Given the description of an element on the screen output the (x, y) to click on. 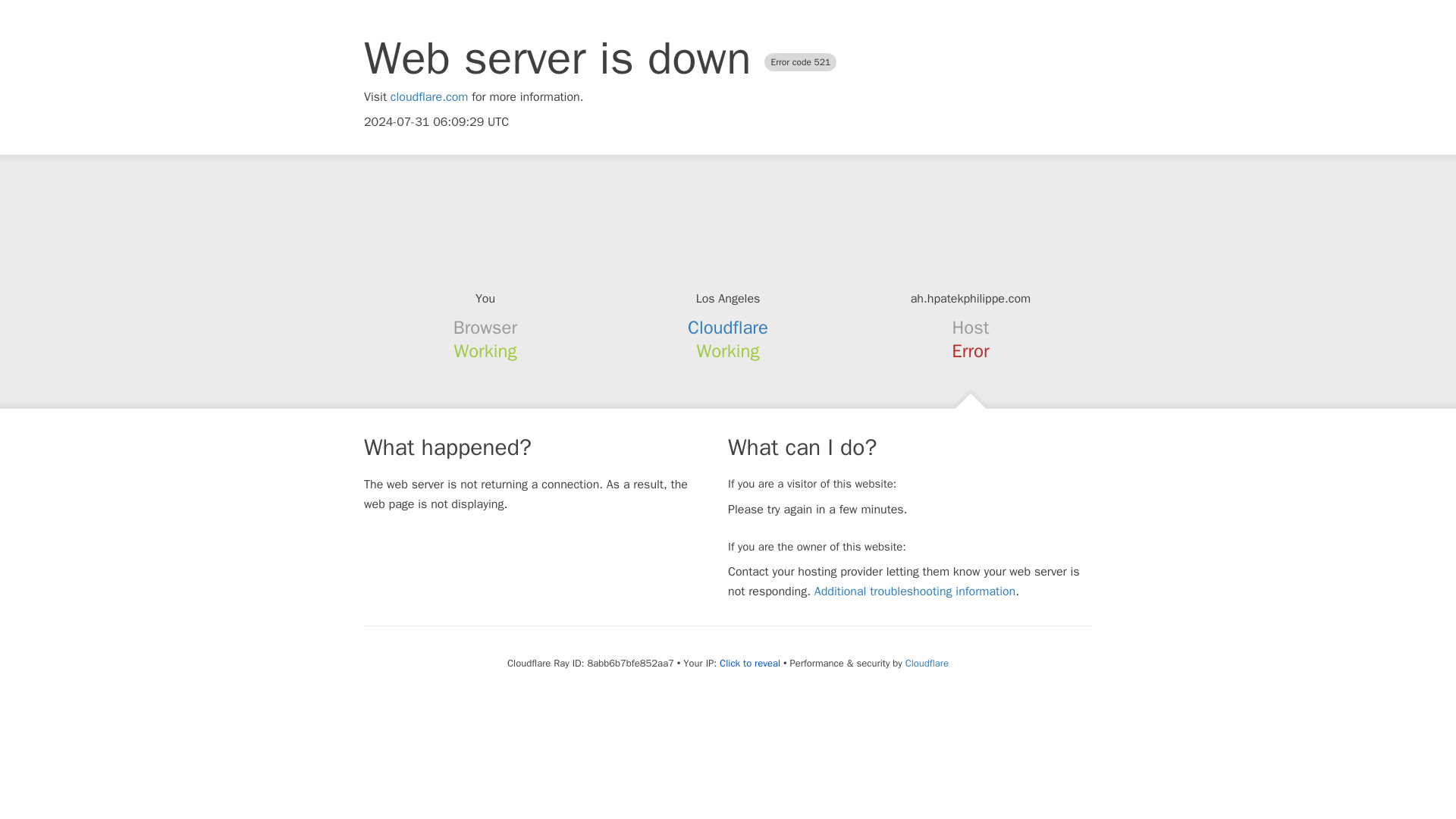
cloudflare.com (429, 96)
Cloudflare (927, 662)
Cloudflare (727, 327)
Additional troubleshooting information (913, 590)
Click to reveal (749, 663)
